Given the description of an element on the screen output the (x, y) to click on. 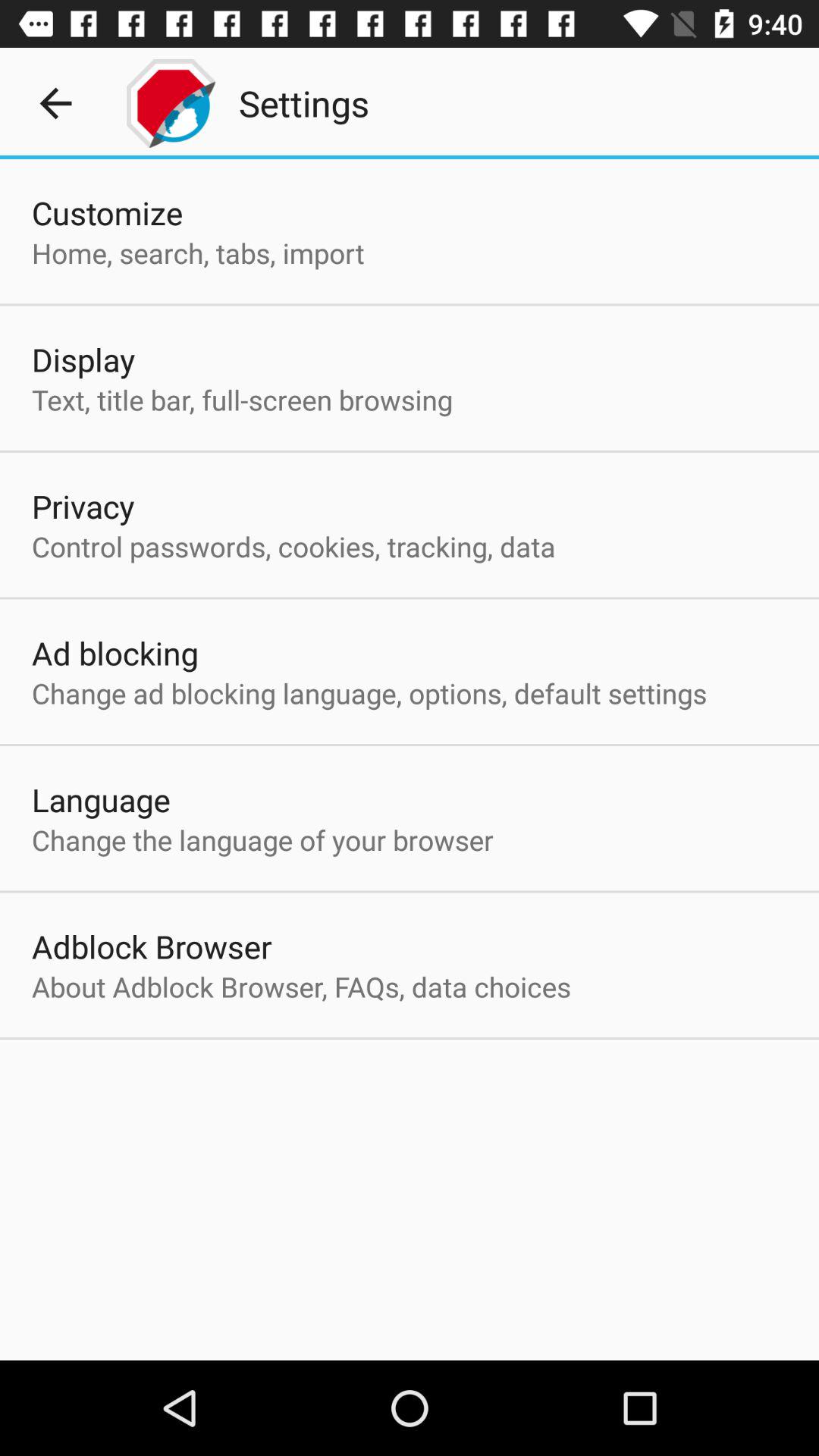
click the item below the customize app (197, 252)
